Given the description of an element on the screen output the (x, y) to click on. 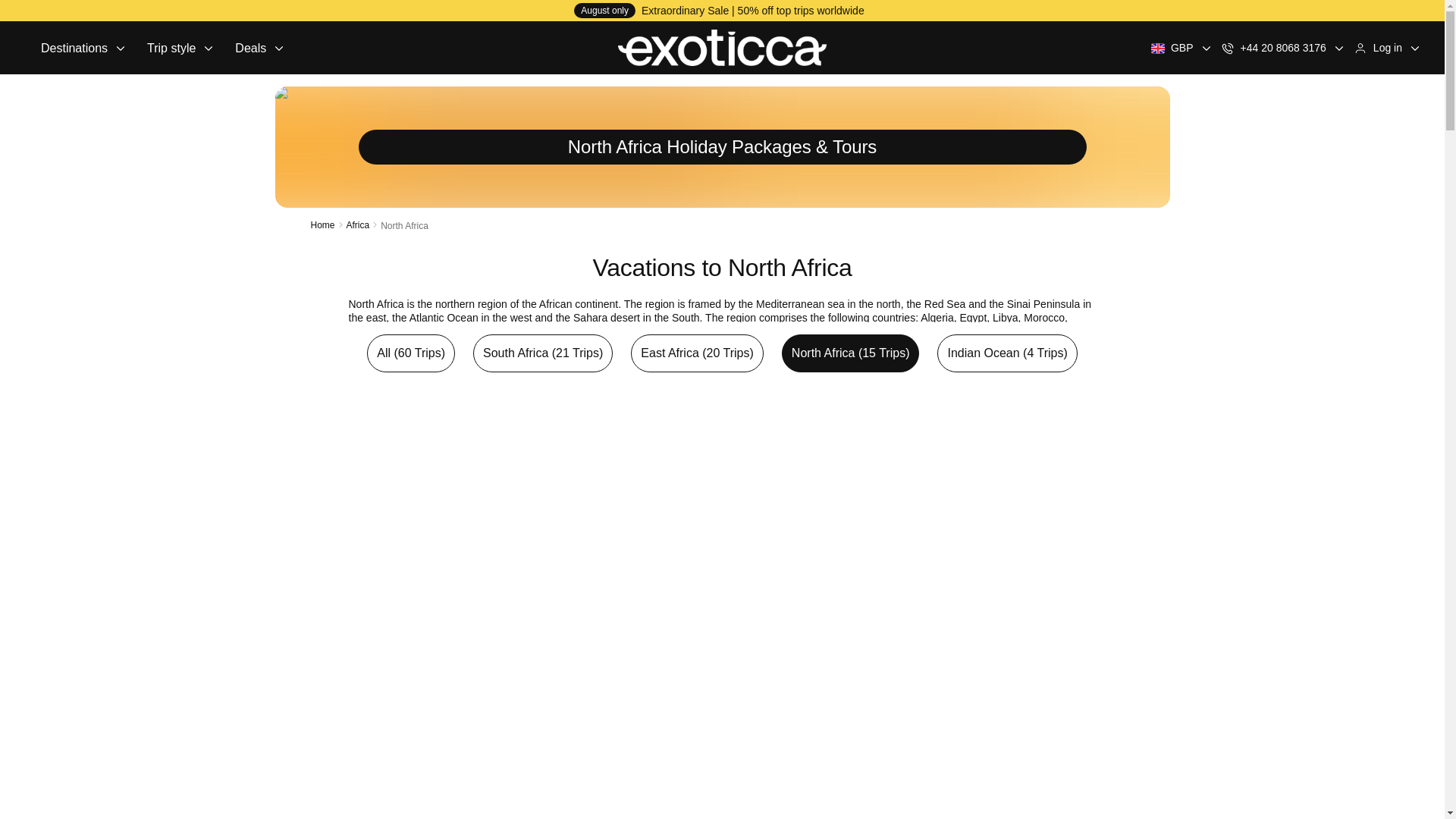
arrow-icon (278, 47)
arrow-icon (1338, 47)
arrow-icon (208, 47)
arrow-icon (120, 47)
arrow-icon (1205, 47)
arrow-icon (83, 47)
